Given the description of an element on the screen output the (x, y) to click on. 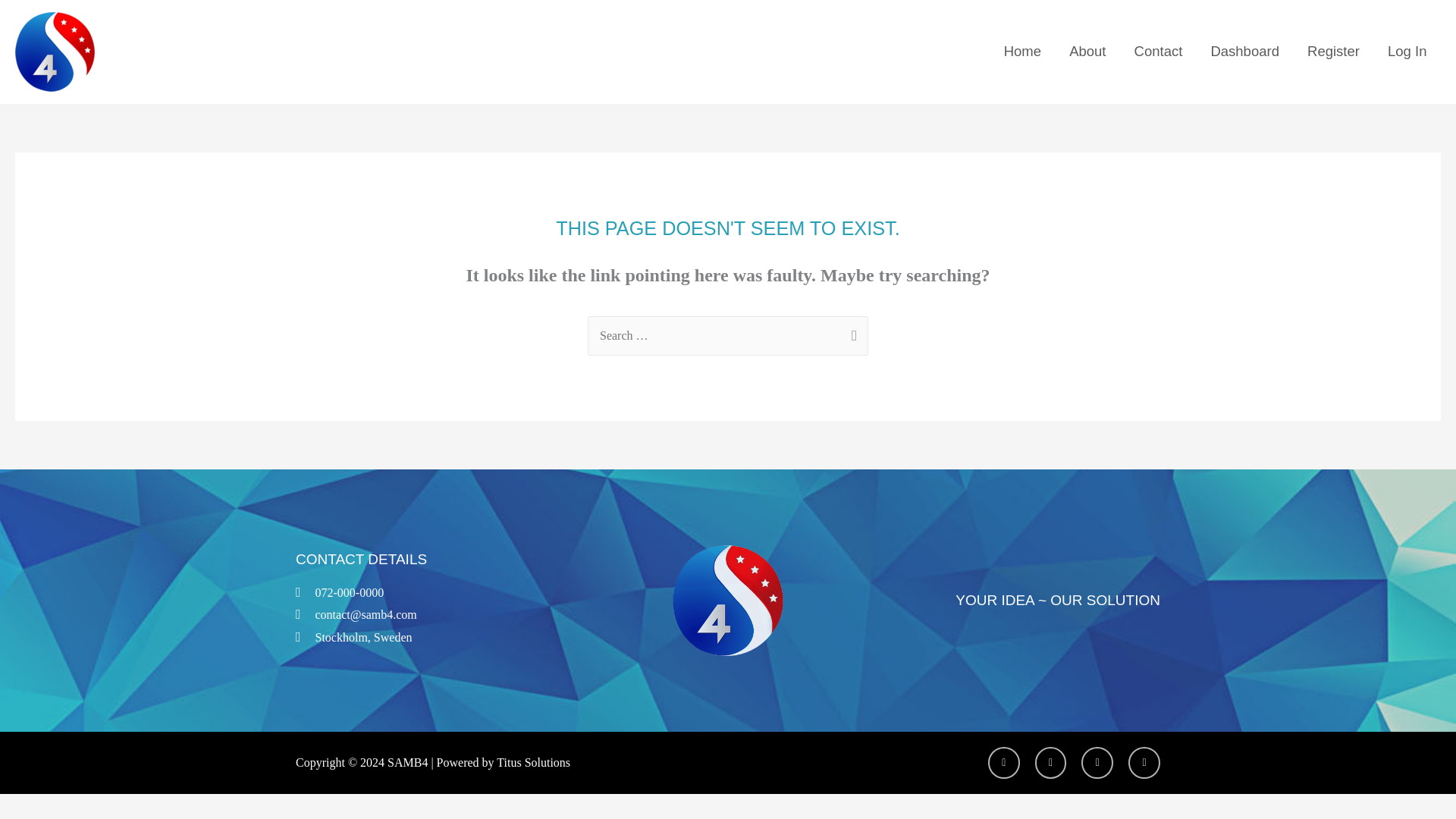
About (1087, 51)
Stockholm, Sweden (439, 637)
Log In (1407, 51)
Home (1022, 51)
Dashboard (1245, 51)
Search (850, 333)
072-000-0000 (439, 592)
Contact (1157, 51)
Search (850, 333)
Search (850, 333)
Register (1334, 51)
